Given the description of an element on the screen output the (x, y) to click on. 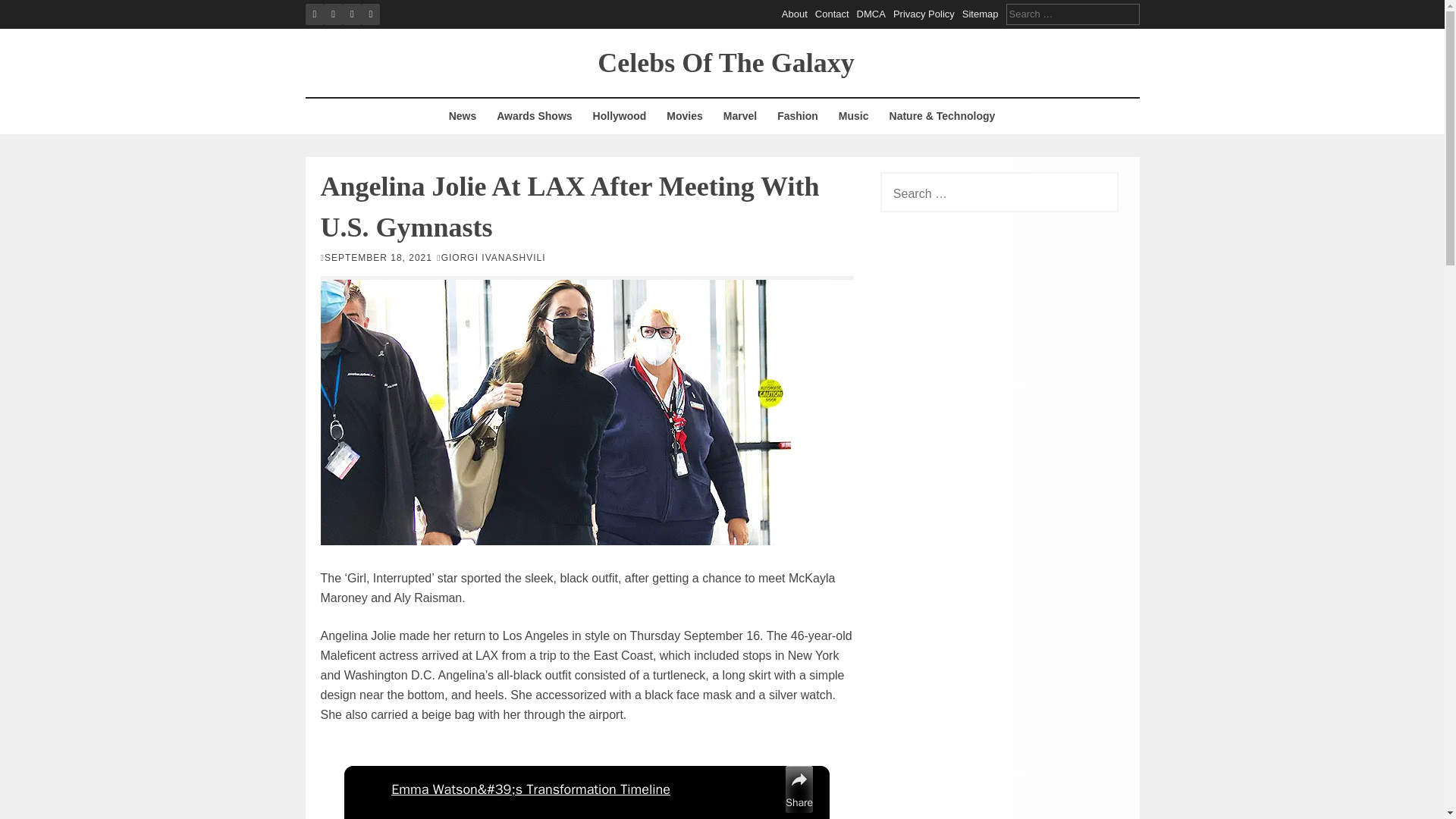
News (462, 116)
Marvel (740, 116)
Movies (683, 116)
Music (853, 116)
Privacy Policy (924, 13)
Hollywood (619, 116)
Celebs Of The Galaxy (724, 61)
GIORGI IVANASHVILI (493, 256)
Awards Shows (533, 116)
Search (23, 9)
Sitemap (980, 13)
About (794, 13)
Contact (831, 13)
SEPTEMBER 18, 2021 (378, 256)
Search (24, 9)
